Given the description of an element on the screen output the (x, y) to click on. 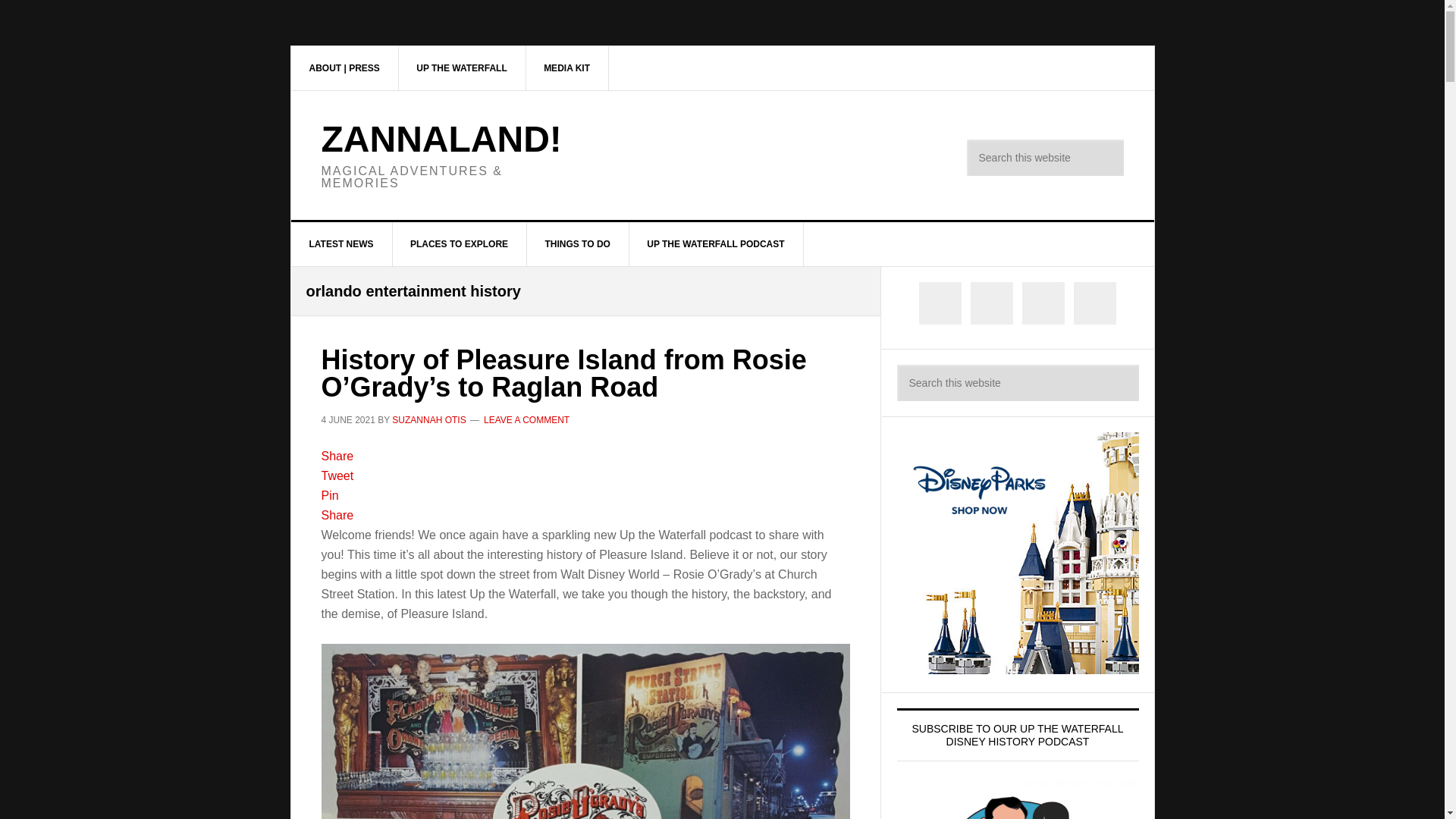
ZANNALAND! (441, 138)
THINGS TO DO (576, 243)
Podcasts (461, 67)
LATEST NEWS (342, 243)
MEDIA KIT (566, 67)
UP THE WATERFALL PODCAST (715, 243)
PLACES TO EXPLORE (459, 243)
UP THE WATERFALL (461, 67)
podcast (715, 243)
